Given the description of an element on the screen output the (x, y) to click on. 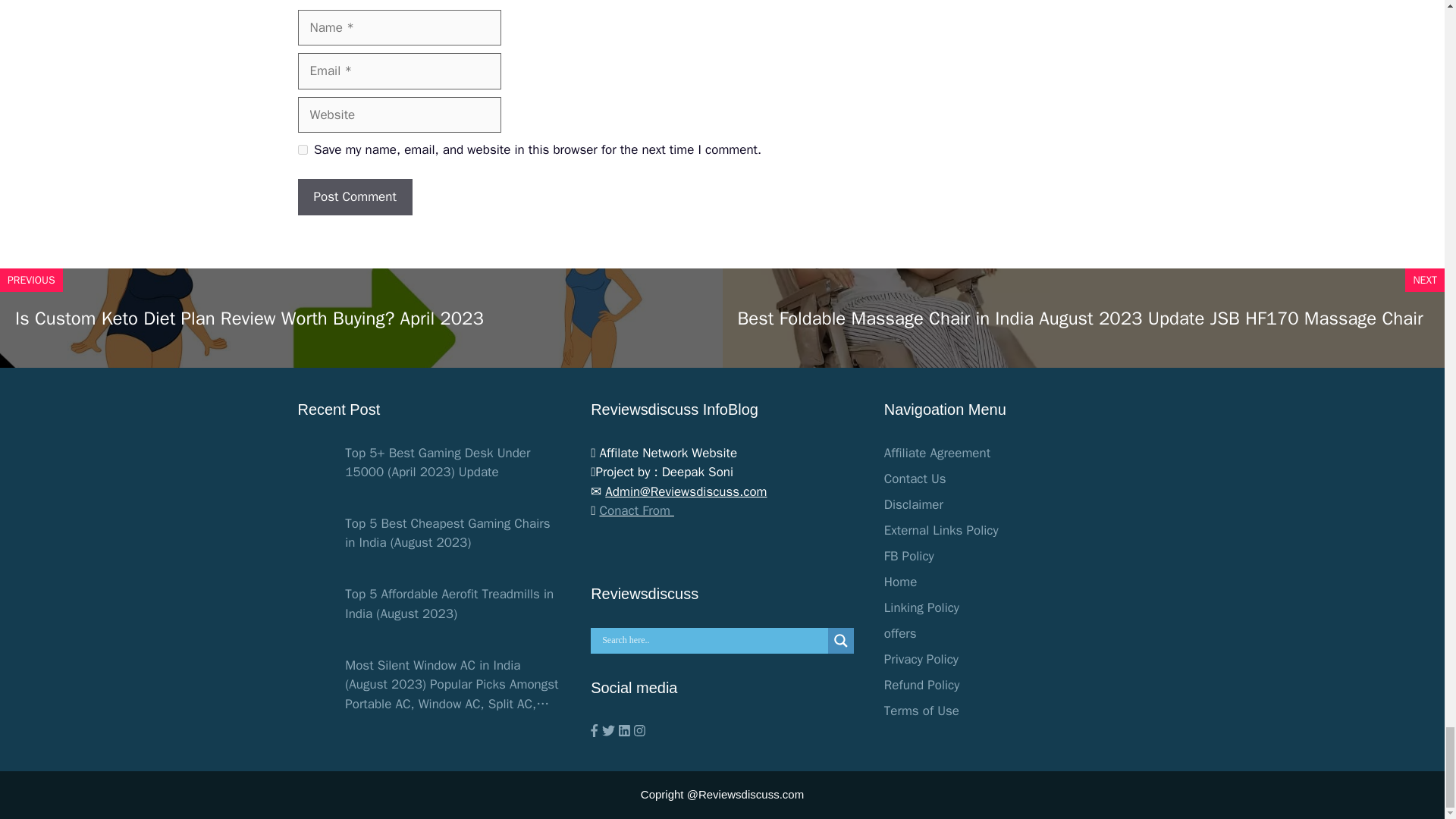
yes (302, 149)
Post Comment (354, 197)
